Given the description of an element on the screen output the (x, y) to click on. 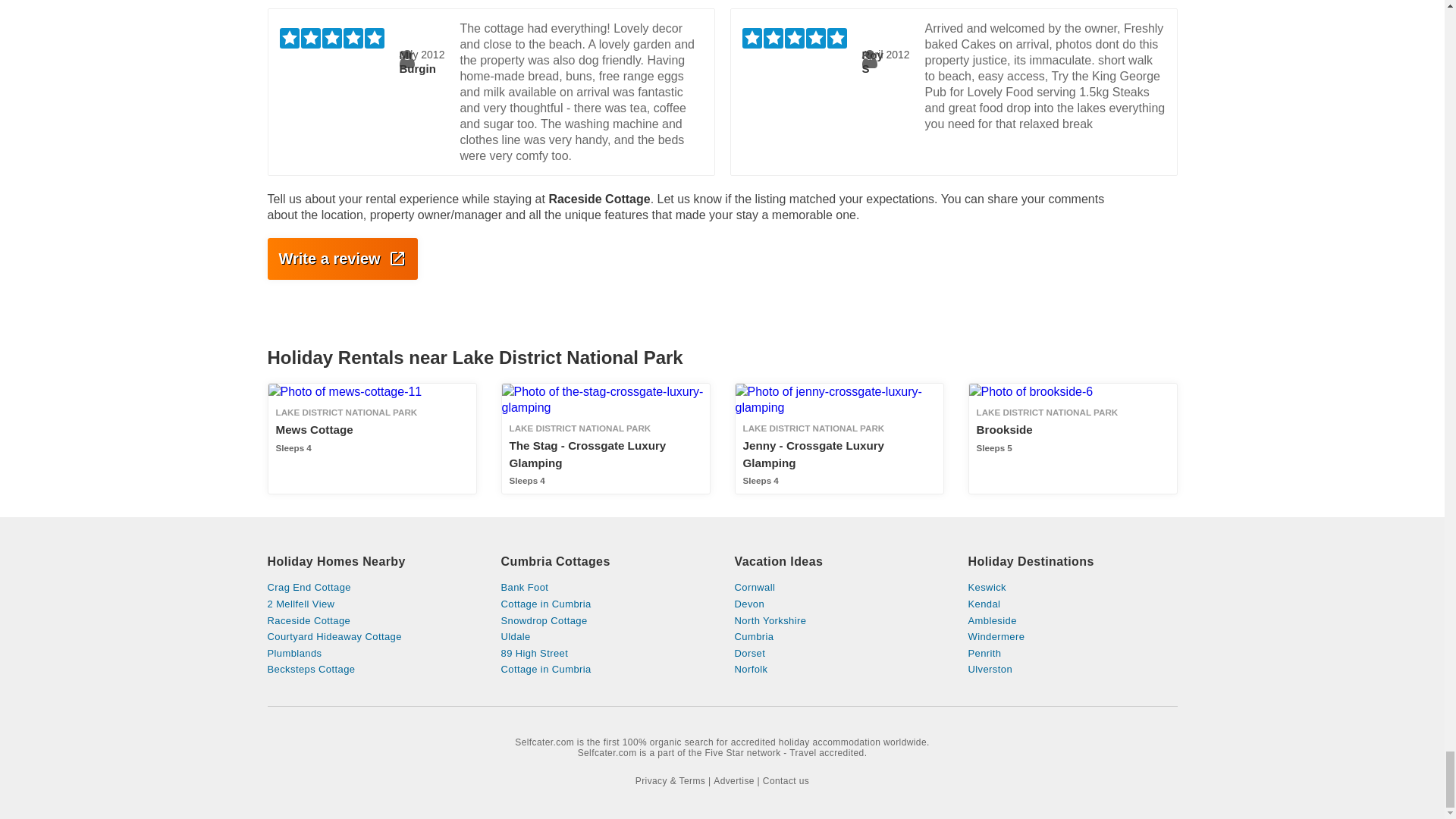
Crag End Cottage (371, 587)
Write a review (341, 259)
Self-catering Cottage in Cumbria (605, 604)
Self-catering Becksteps Cottage (371, 669)
Uldale (605, 636)
Self-catering 2 Mellfell View (371, 604)
Cottage in Cumbria (605, 604)
Devon (371, 439)
Snowdrop Cottage (838, 604)
2 Mellfell View (605, 621)
North Yorkshire (371, 604)
Cottage in Cumbria (838, 621)
Self-catering Crag End Cottage (605, 669)
